Given the description of an element on the screen output the (x, y) to click on. 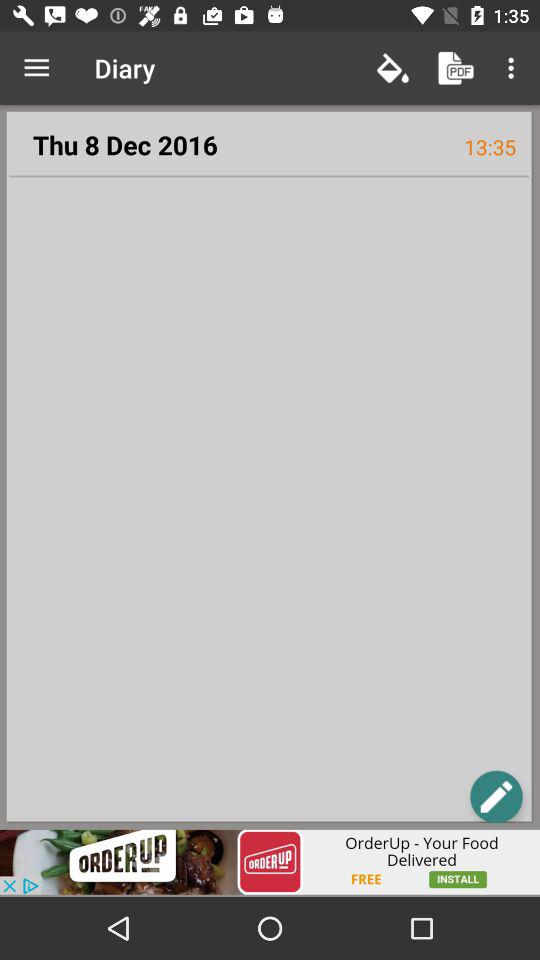
open new note (496, 796)
